Given the description of an element on the screen output the (x, y) to click on. 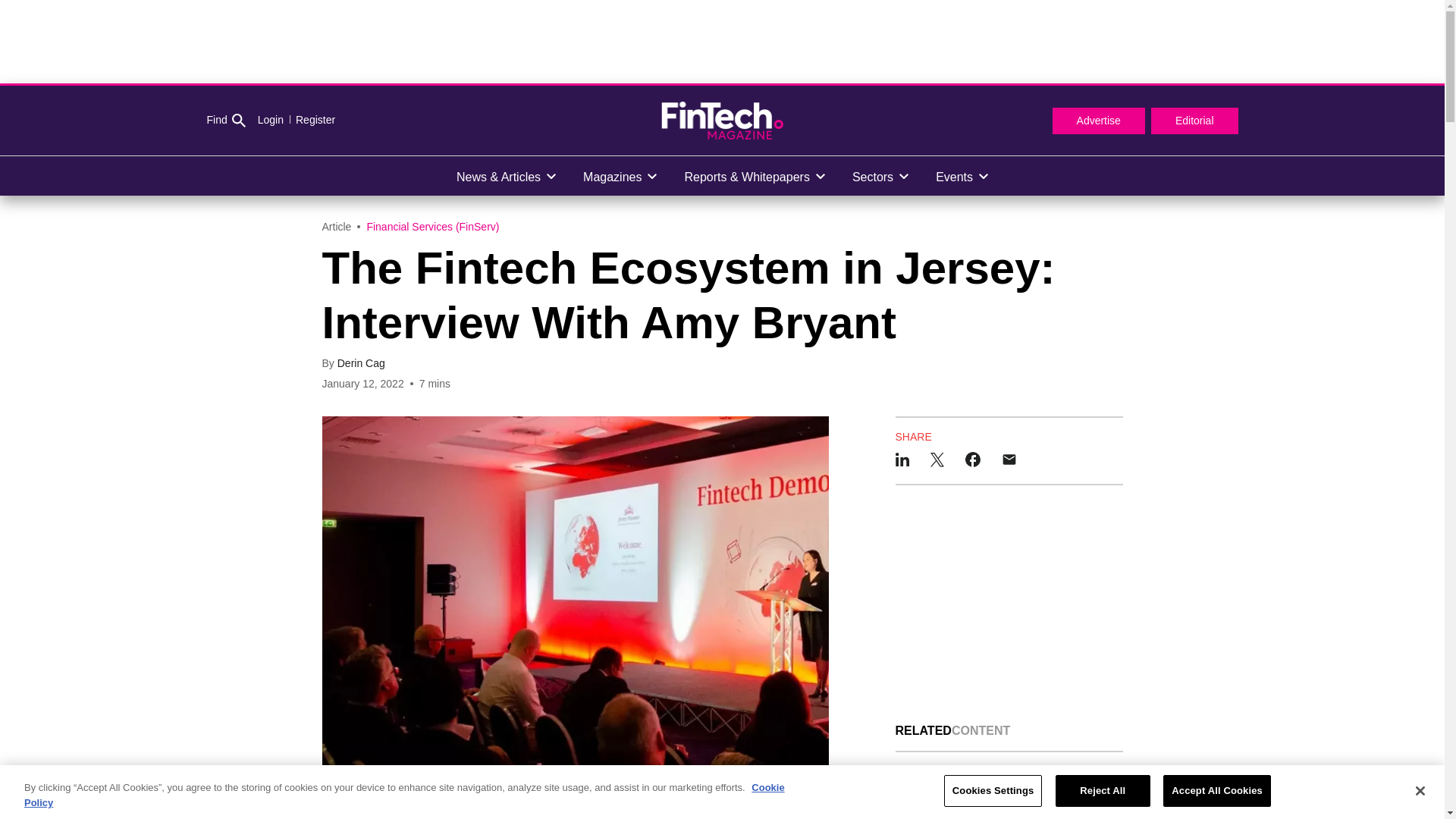
Editorial (1195, 121)
3rd party ad content (1008, 604)
Register (308, 120)
3rd party ad content (721, 41)
Events (961, 175)
Login (270, 120)
Find (225, 120)
Magazines (619, 175)
Advertise (1098, 121)
Sectors (879, 175)
